Given the description of an element on the screen output the (x, y) to click on. 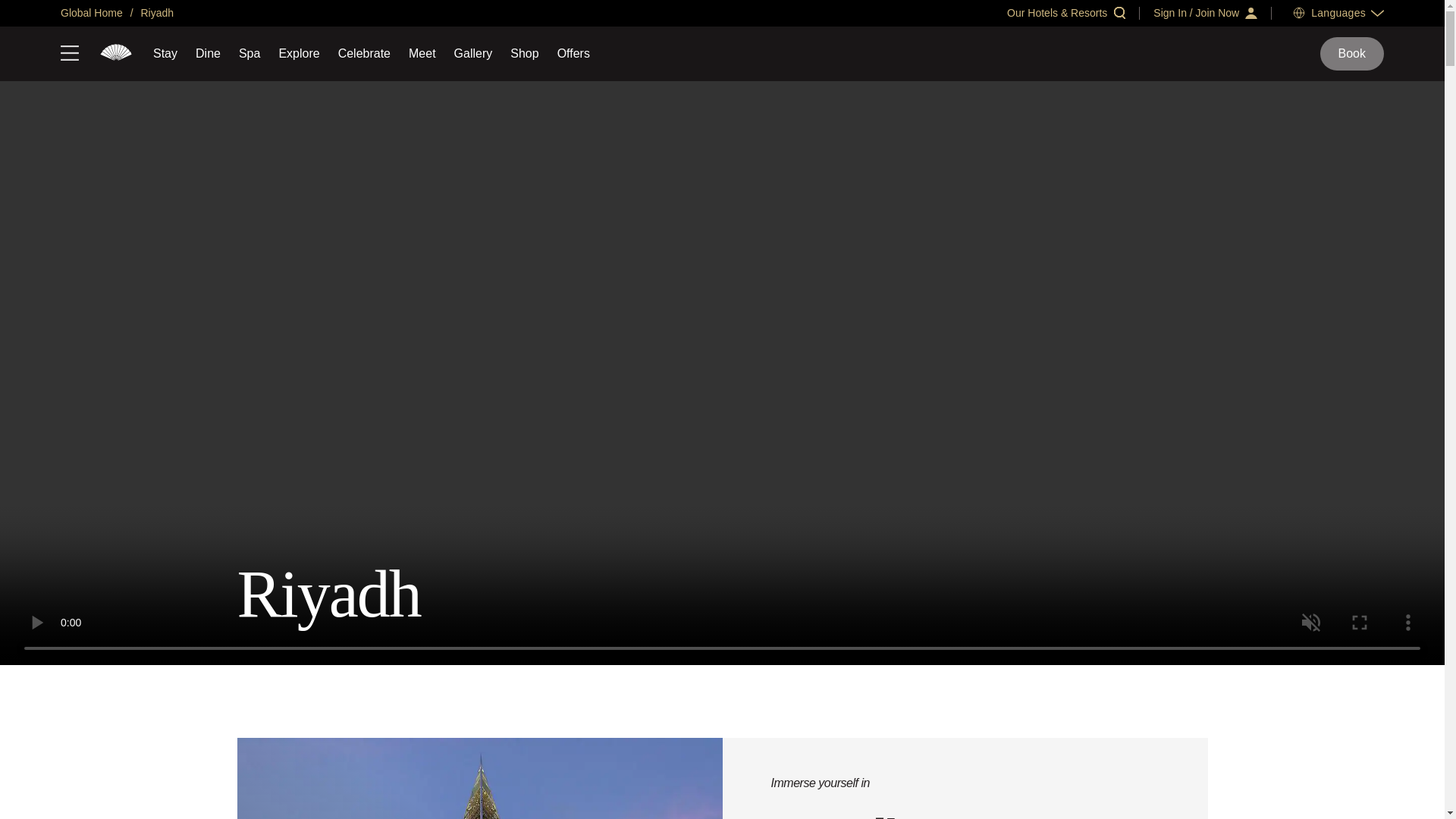
Offers (573, 52)
Celebrate (363, 52)
Explore (298, 52)
Dine (208, 52)
Book (1352, 53)
Stay (164, 52)
Global Home (91, 12)
Meet (422, 52)
Riyadh (155, 12)
Languages (1338, 12)
